Given the description of an element on the screen output the (x, y) to click on. 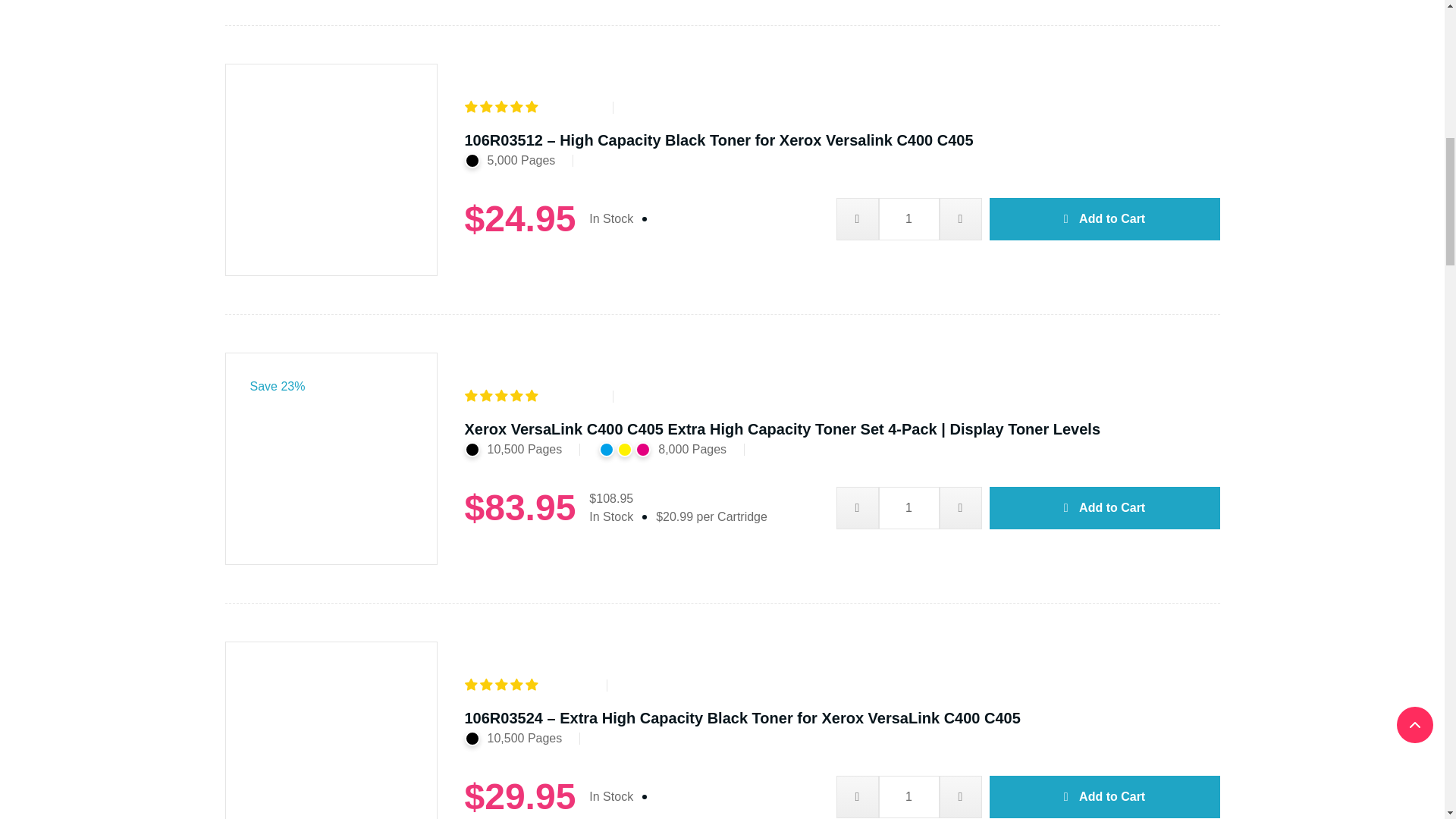
1 (908, 507)
Qty (908, 507)
1 (908, 796)
Add to Cart (1104, 219)
Qty (908, 219)
Qty (908, 796)
1 (908, 219)
